Given the description of an element on the screen output the (x, y) to click on. 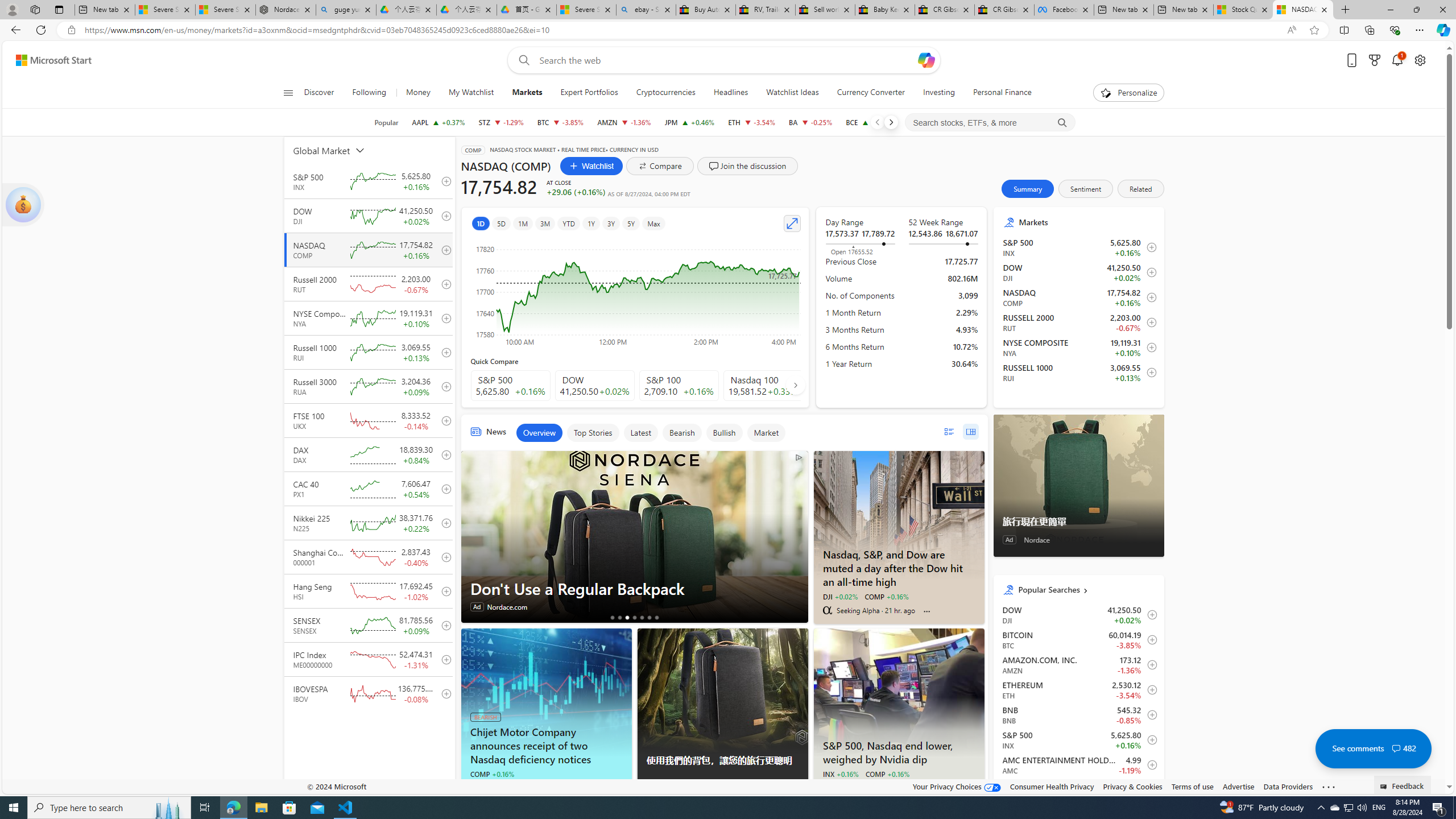
Seeking Alpha (474, 786)
AdChoices (798, 789)
Summary (1027, 188)
Open settings (1420, 60)
Following (370, 92)
Skip to footer (46, 59)
Class: feedback_link_icon-DS-EntryPoint1-1 (1384, 786)
